Given the description of an element on the screen output the (x, y) to click on. 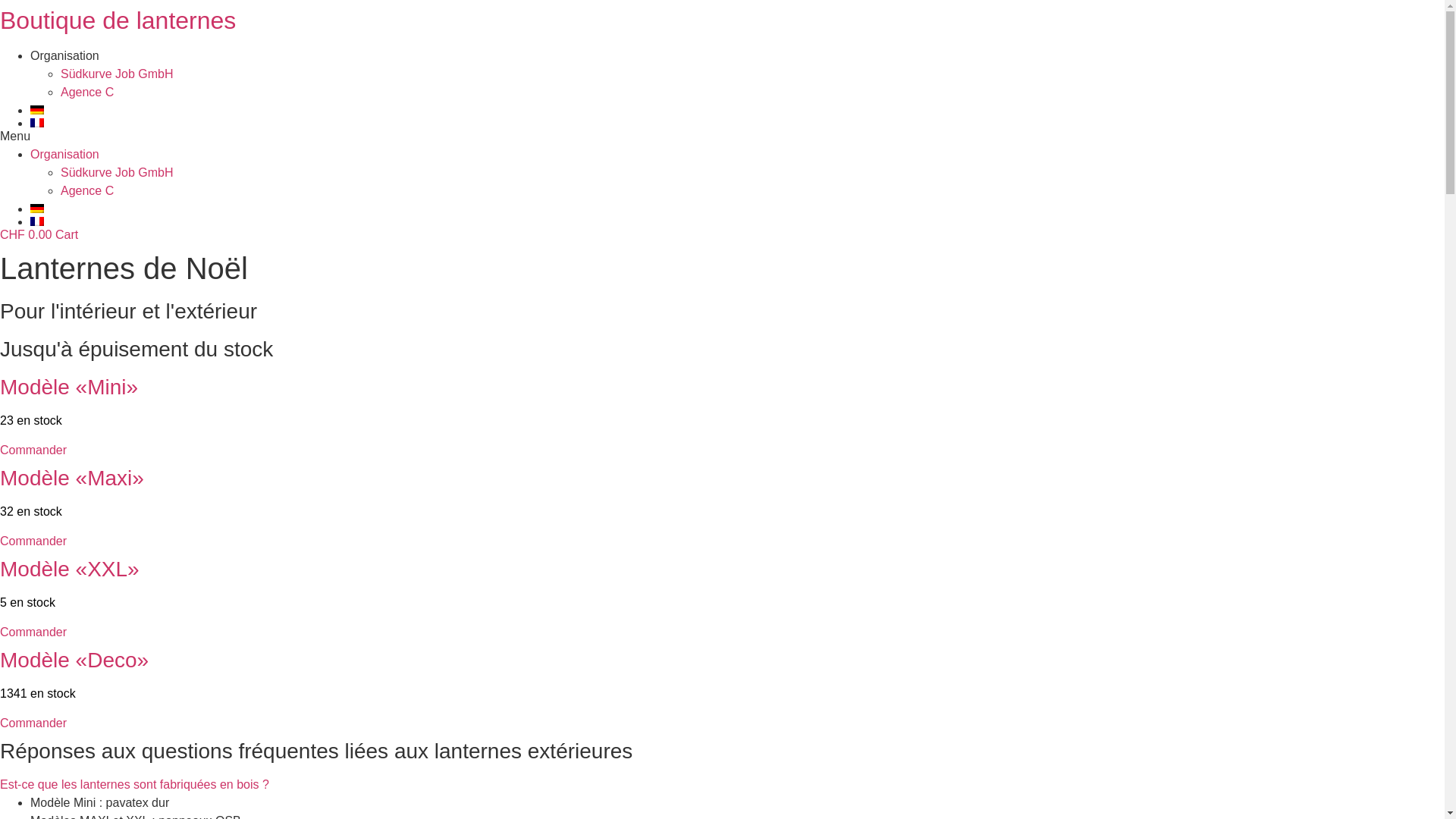
Organisation Element type: text (64, 55)
Boutique de lanternes Element type: text (117, 20)
Agence C Element type: text (86, 190)
CHF 0.00 Cart Element type: text (39, 234)
Organisation Element type: text (64, 153)
Agence C Element type: text (86, 91)
